Given the description of an element on the screen output the (x, y) to click on. 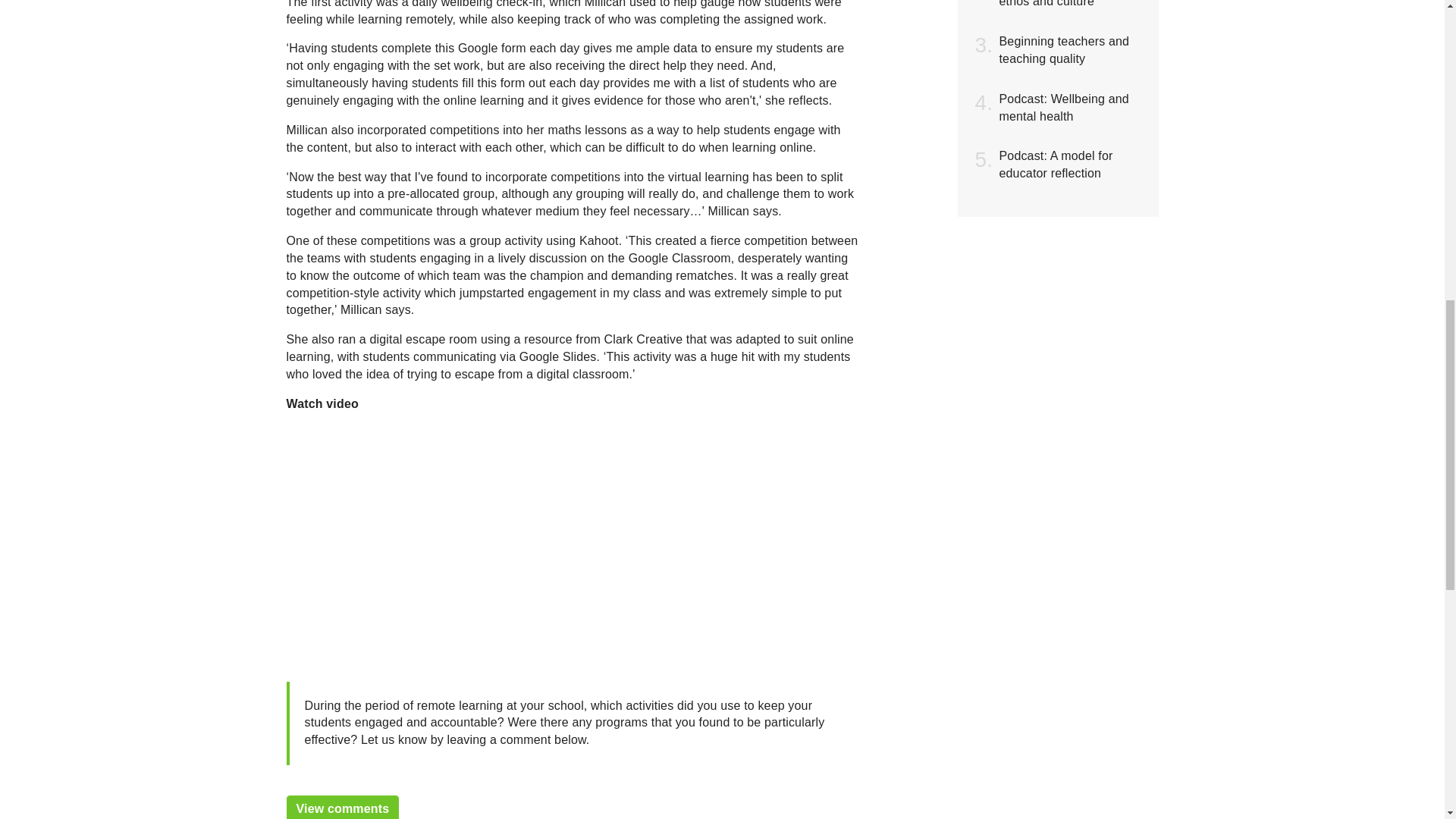
View comments (342, 807)
